Given the description of an element on the screen output the (x, y) to click on. 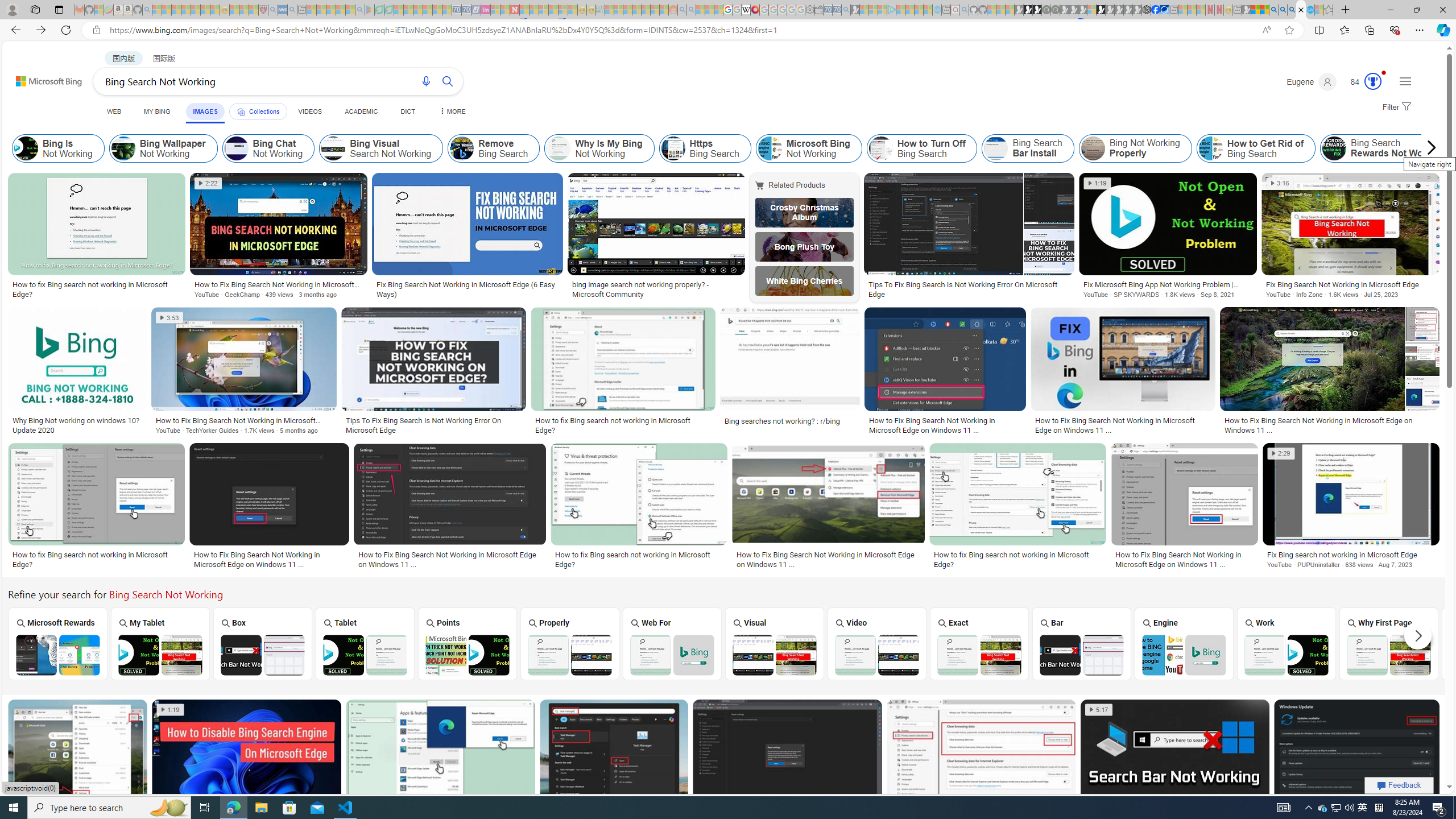
Bing Visual Search Not Working (381, 148)
Home | Sky Blue Bikes - Sky Blue Bikes - Sleeping (936, 9)
MediaWiki (754, 9)
Terms of Use Agreement - Sleeping (378, 9)
Wallet - Sleeping (818, 9)
Bing Search the Web for Image Not Working Web For (671, 643)
Bing Is Not Working (58, 148)
Bing Tablet Search Not Working Tablet (364, 643)
Bing Search Not Working On My Tablet (160, 655)
